Given the description of an element on the screen output the (x, y) to click on. 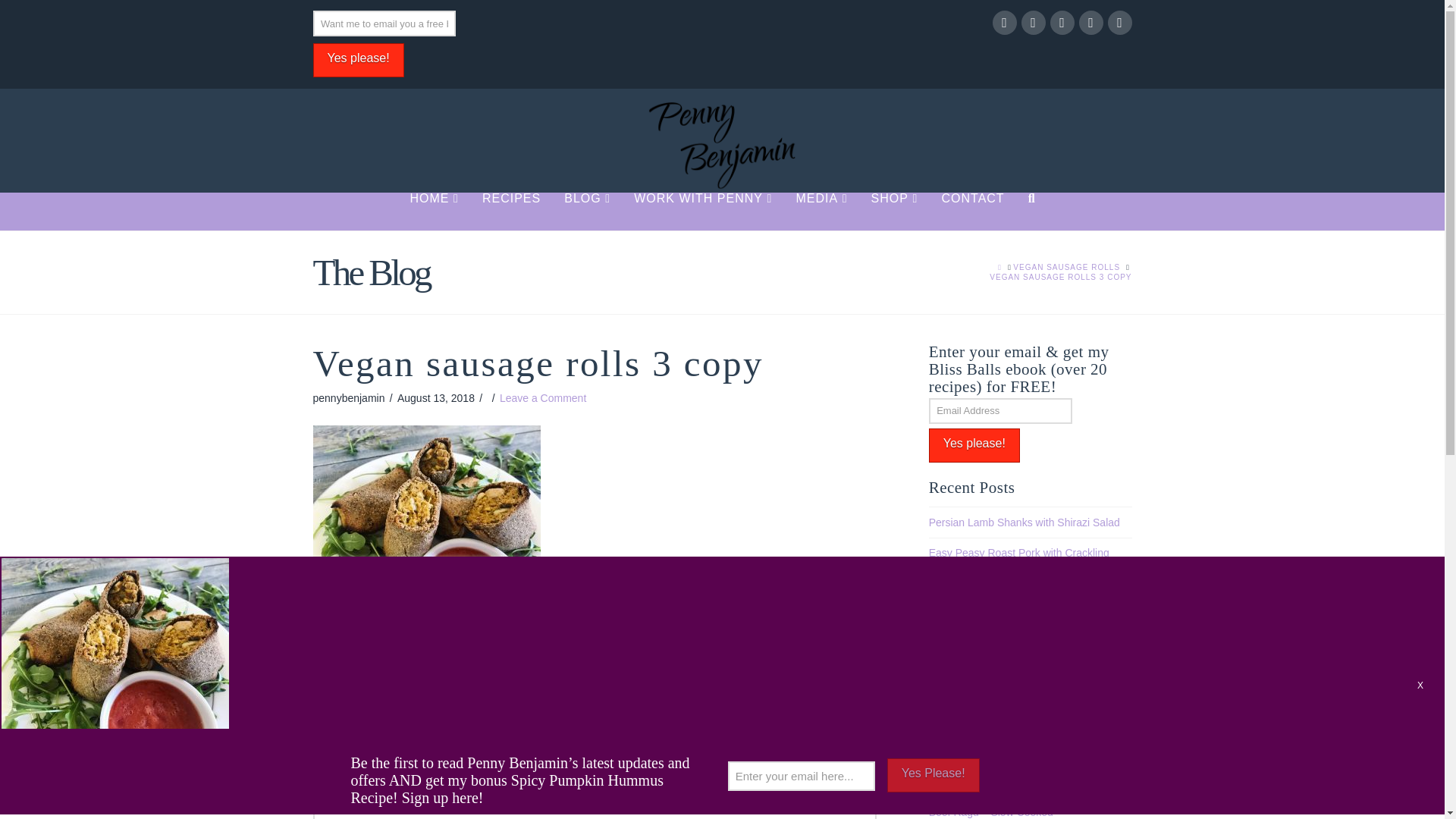
MEDIA (821, 211)
CONTACT (971, 211)
BLOG (586, 211)
Yes Please! (932, 775)
WORK WITH PENNY (702, 211)
SHOP (894, 211)
Yes please! (358, 59)
Yes please! (974, 445)
YouTube (1090, 22)
Yes please! (358, 59)
Facebook (1003, 22)
Instagram (1118, 22)
LinkedIn (1061, 22)
HOME (433, 211)
RECIPES (510, 211)
